Given the description of an element on the screen output the (x, y) to click on. 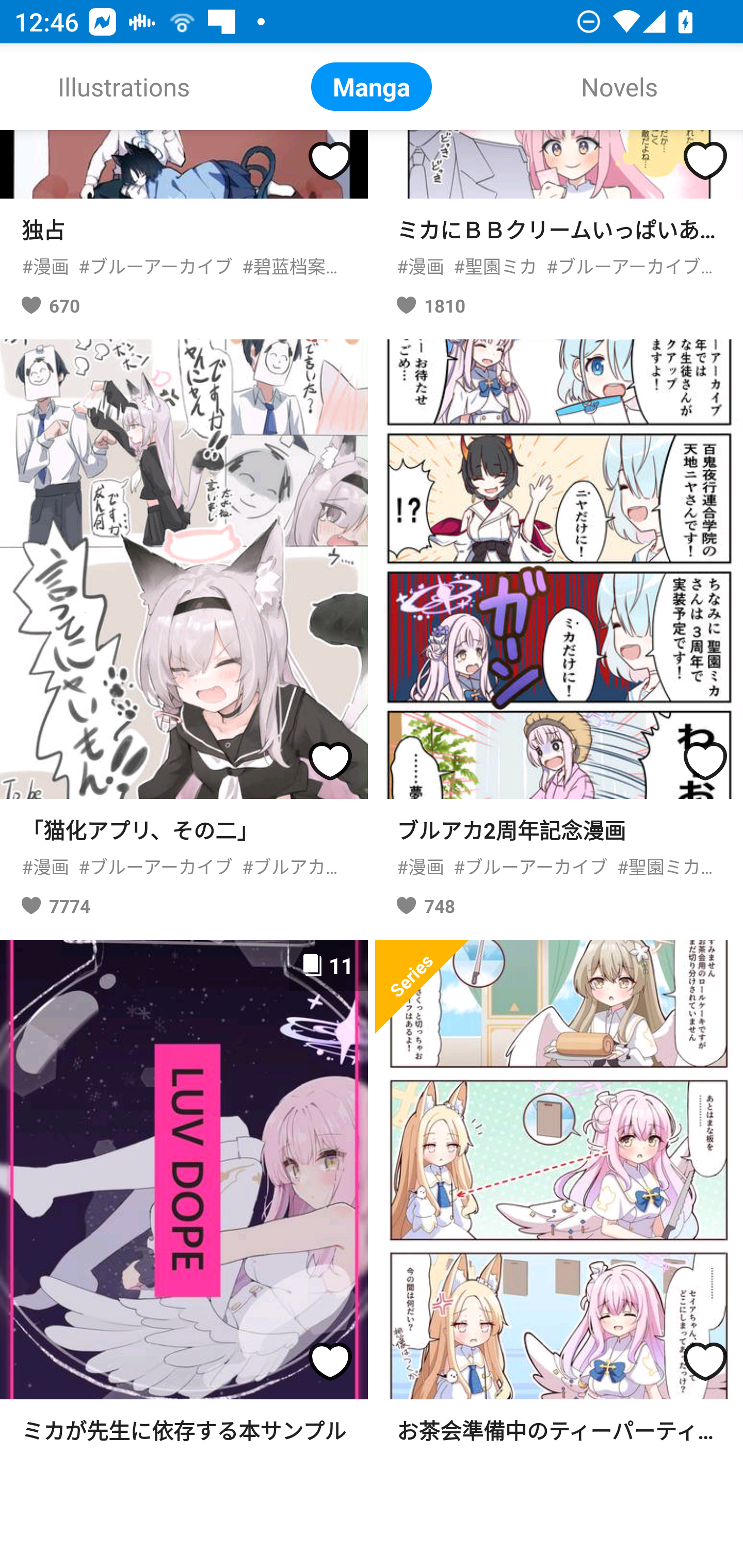
Illustrations (123, 86)
Manga (371, 86)
Novels (619, 86)
独占 #漫画  #ブルーアーカイブ  #碧蓝档案  #BlueArchive 670 (183, 231)
ブルアカ2周年記念漫画 #漫画  #ブルーアーカイブ  #聖園ミカ  #天地ニヤ 748 (559, 635)
11 ミカが先生に依存する本サンプル (183, 1193)
Series お茶会準備中のティーパーティーの漫画 (559, 1193)
Series (421, 986)
